Given the description of an element on the screen output the (x, y) to click on. 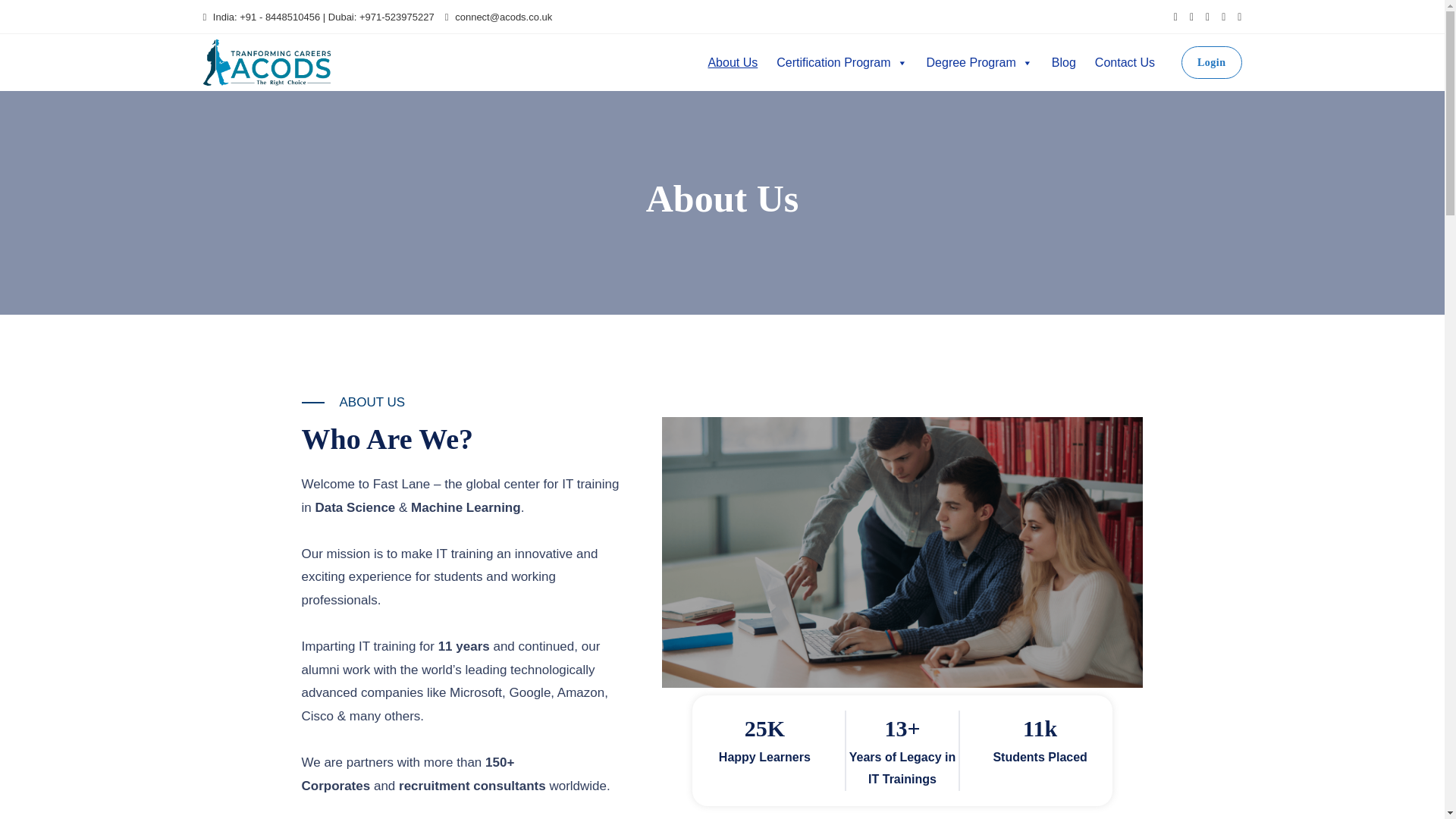
Blog (1063, 61)
Search (102, 6)
Degree Program (979, 61)
Contact Us (1124, 61)
About Us (732, 61)
Login (1210, 61)
Certification Program (841, 61)
